Given the description of an element on the screen output the (x, y) to click on. 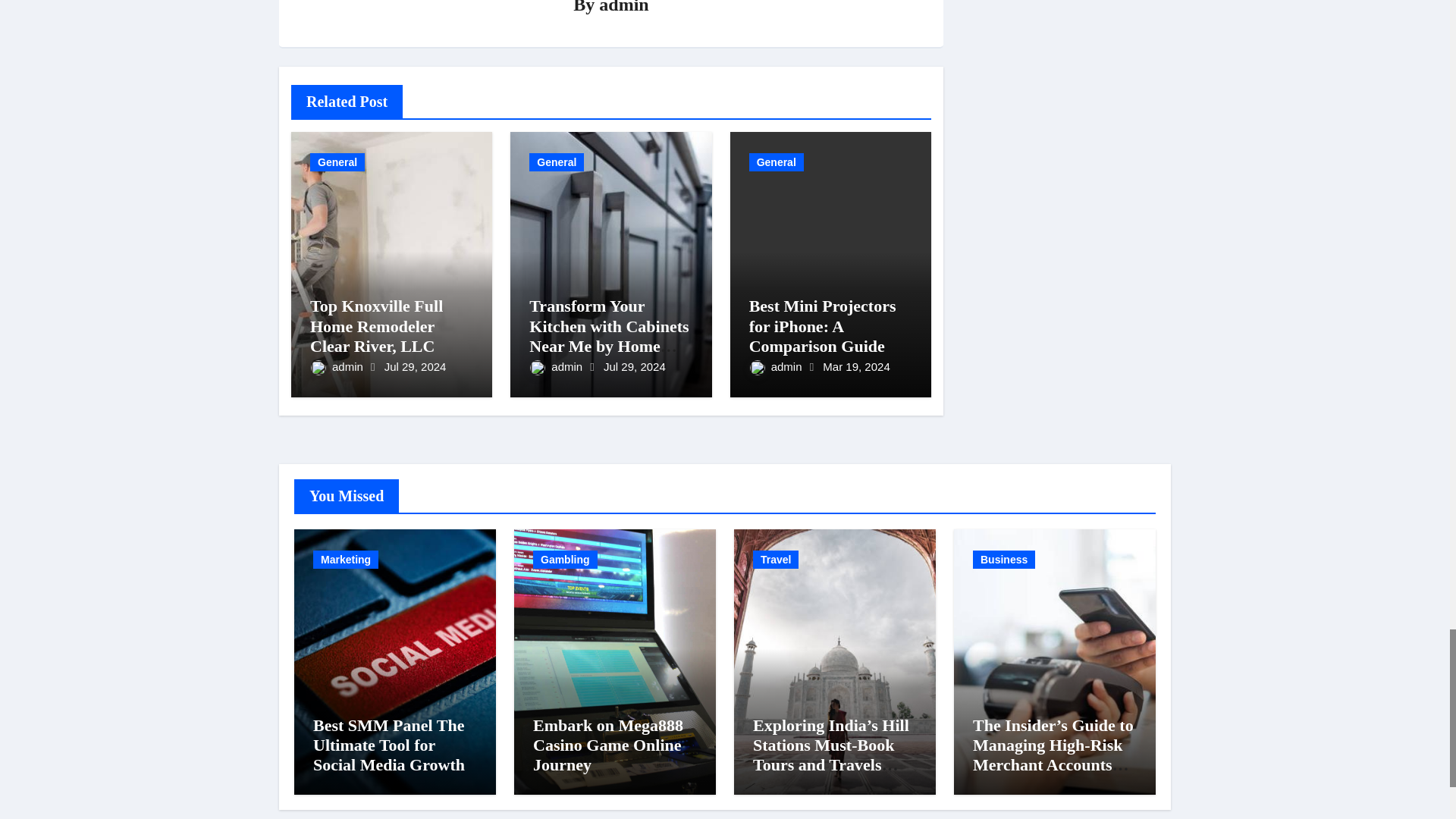
Permalink to: Embark on Mega888 Casino Game Online Journey (607, 744)
